Given the description of an element on the screen output the (x, y) to click on. 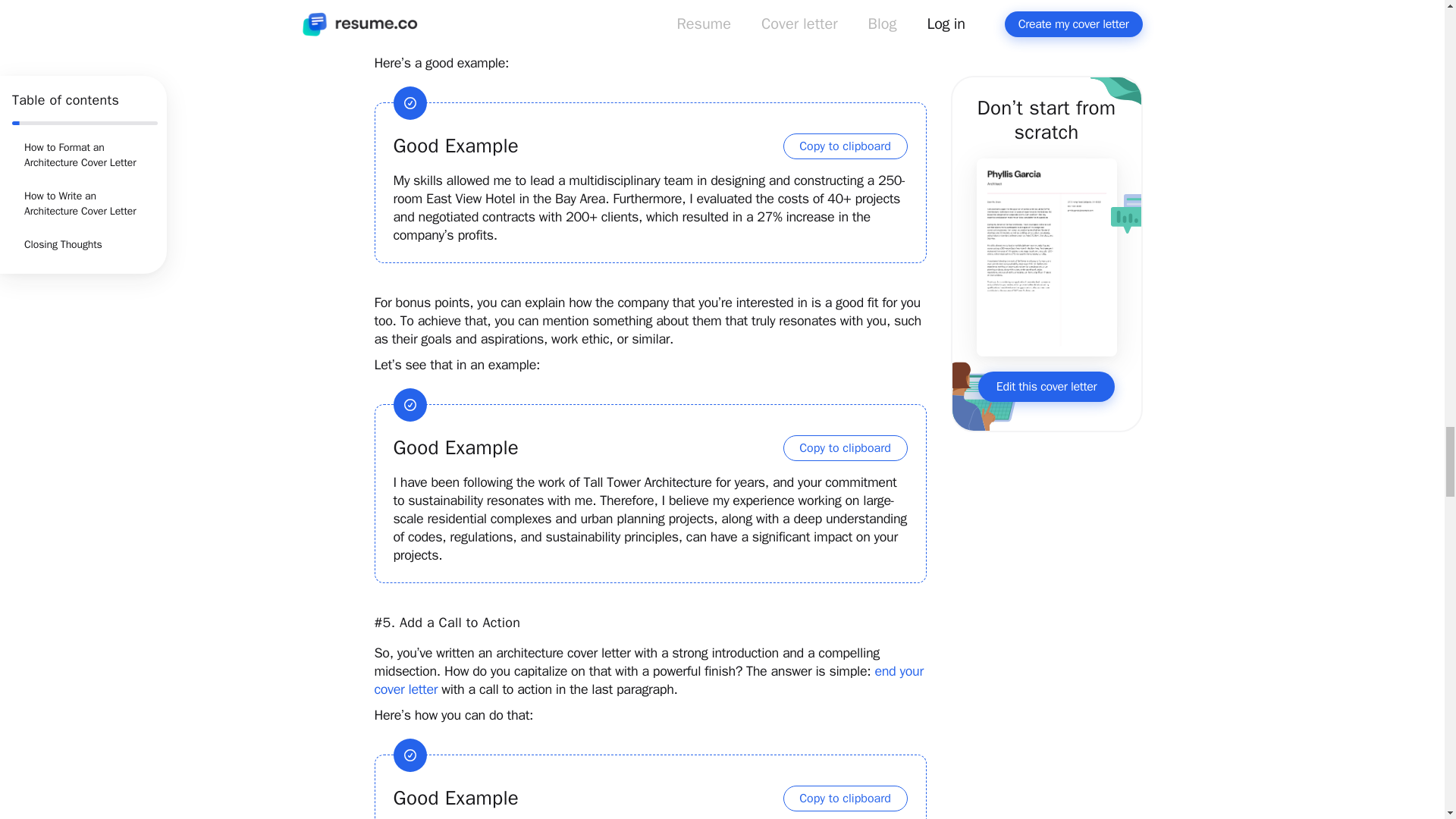
end your cover letter (650, 679)
Copy to clipboard (845, 145)
Copy to clipboard (845, 798)
Copy to clipboard (845, 447)
